Given the description of an element on the screen output the (x, y) to click on. 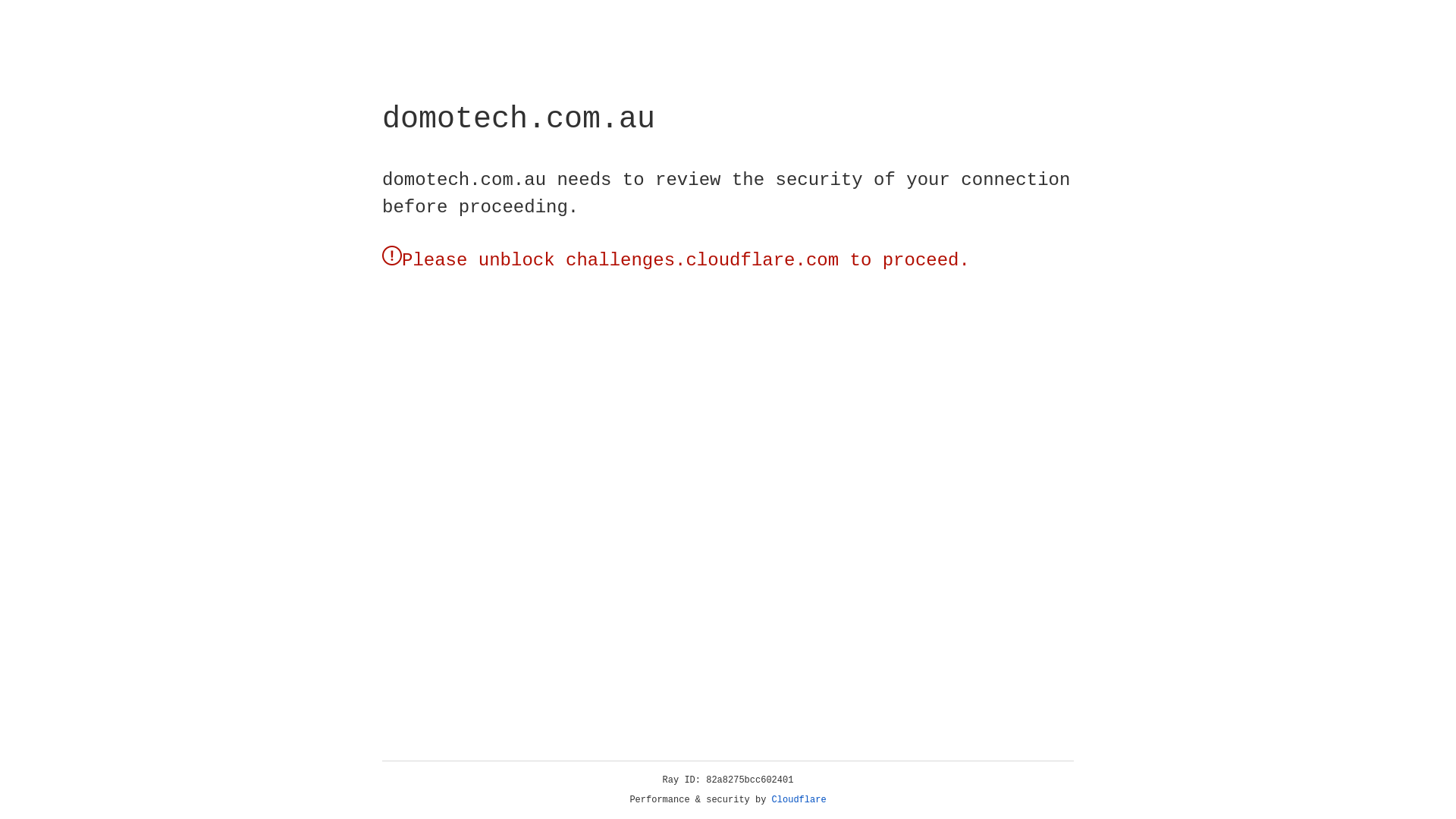
Cloudflare Element type: text (798, 799)
